Given the description of an element on the screen output the (x, y) to click on. 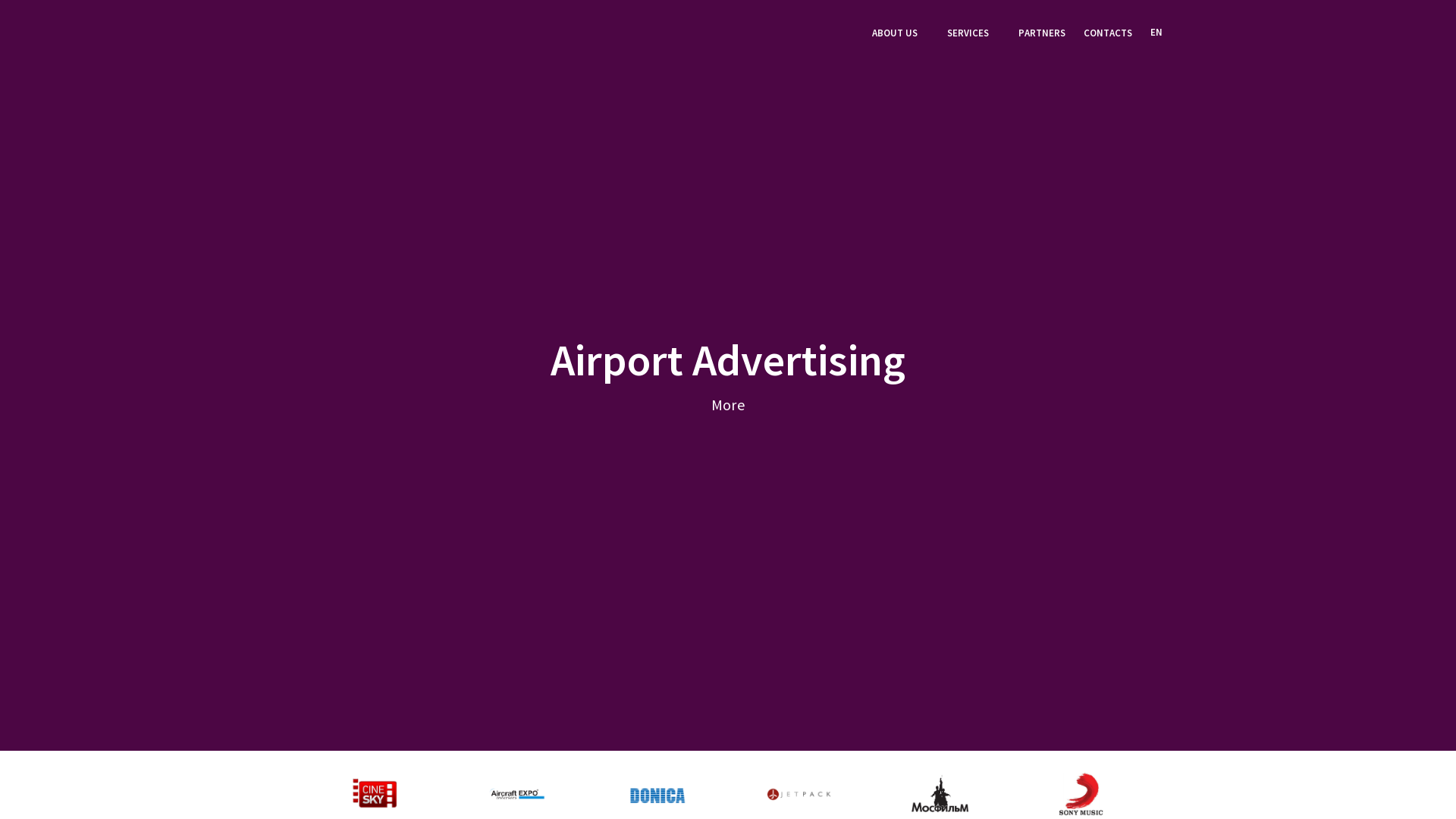
ABOUT US Element type: text (900, 34)
More Element type: text (728, 404)
PARTNERS Element type: text (1041, 34)
SERVICES Element type: text (973, 34)
CONTACTS Element type: text (1107, 34)
